Given the description of an element on the screen output the (x, y) to click on. 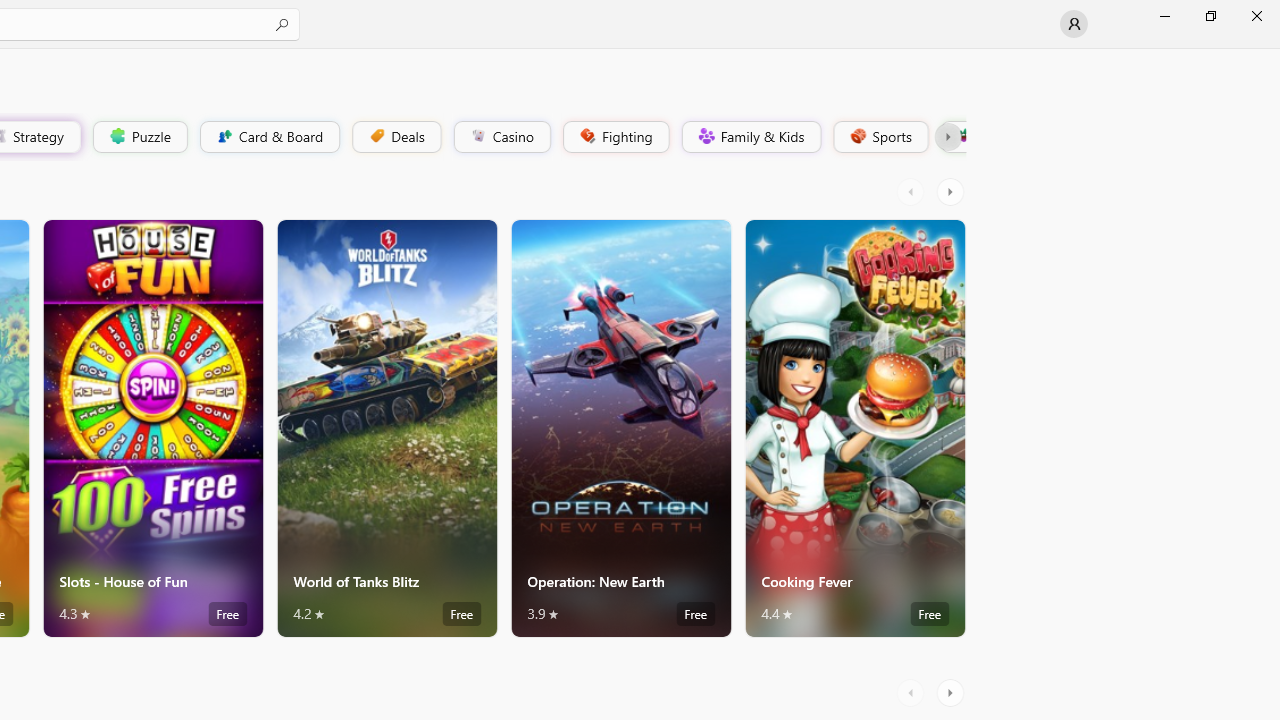
Card & Board (268, 136)
Close Microsoft Store (1256, 15)
Platformer (952, 136)
